Given the description of an element on the screen output the (x, y) to click on. 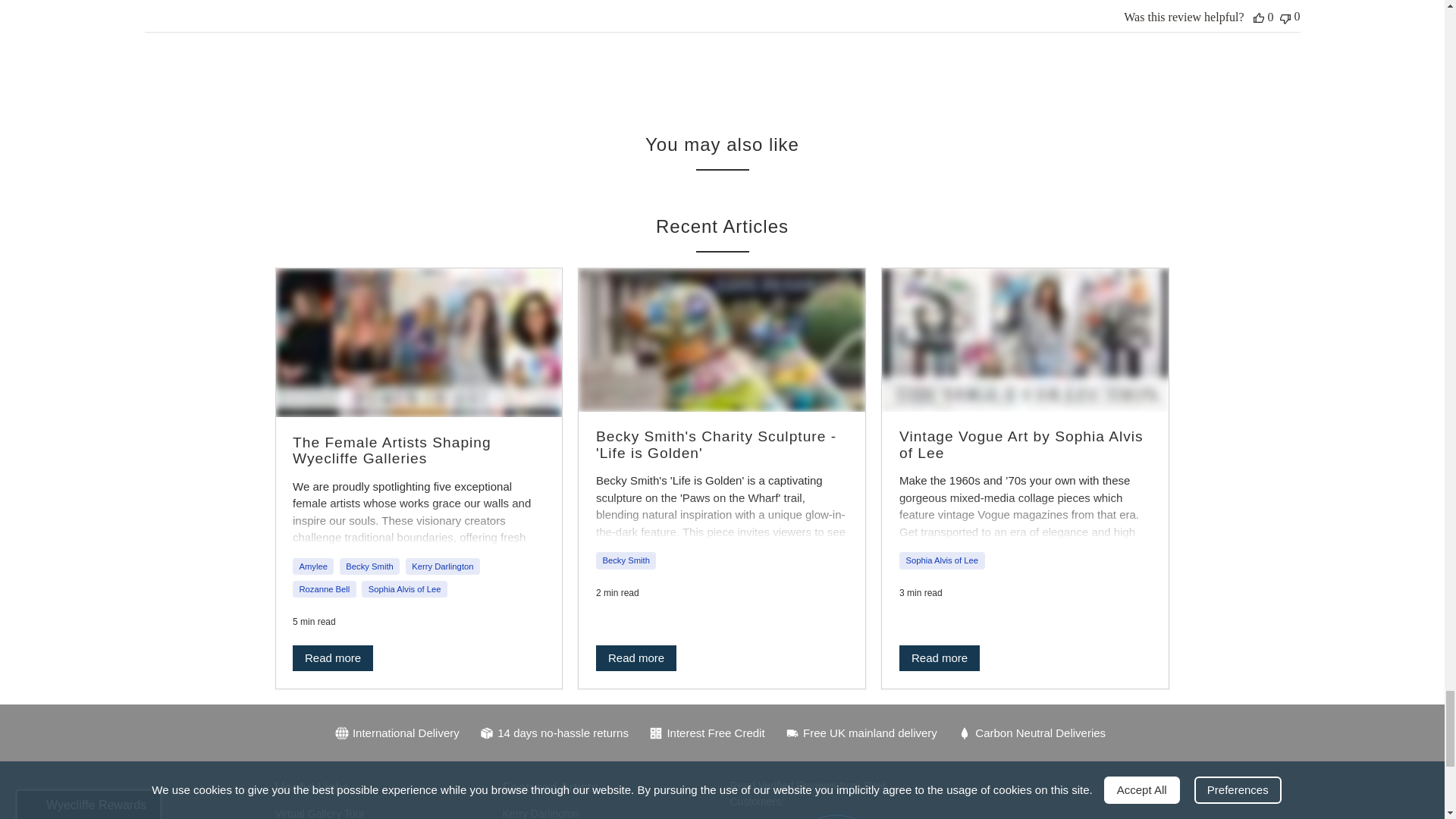
The Female Artists Shaping Wyecliffe Galleries (419, 342)
